Given the description of an element on the screen output the (x, y) to click on. 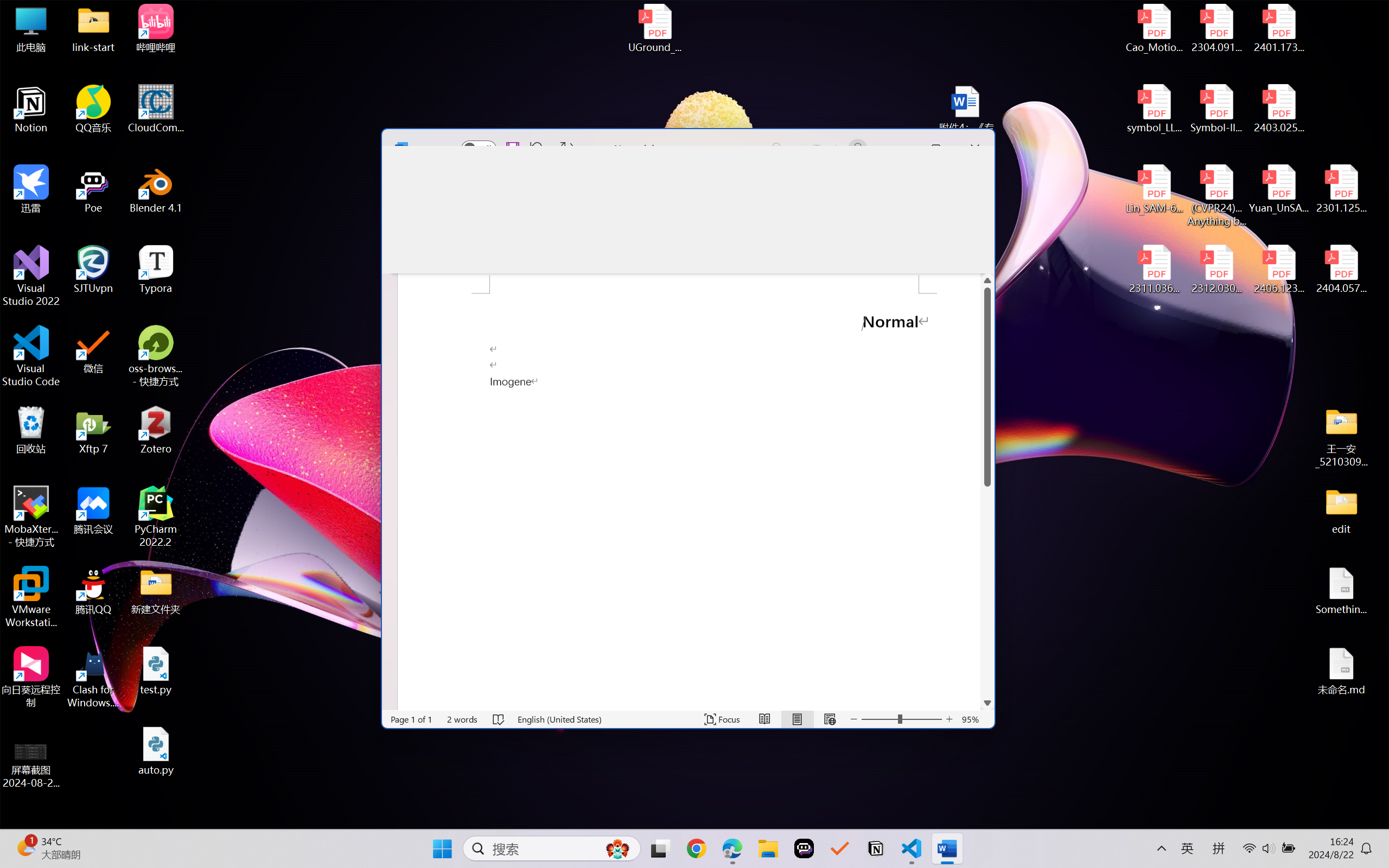
link-start (93, 28)
Something.md (1340, 591)
Line up (987, 280)
Page right (945, 703)
Ink to Shape (865, 226)
Pen: Black, 0.5 mm (534, 223)
